Given the description of an element on the screen output the (x, y) to click on. 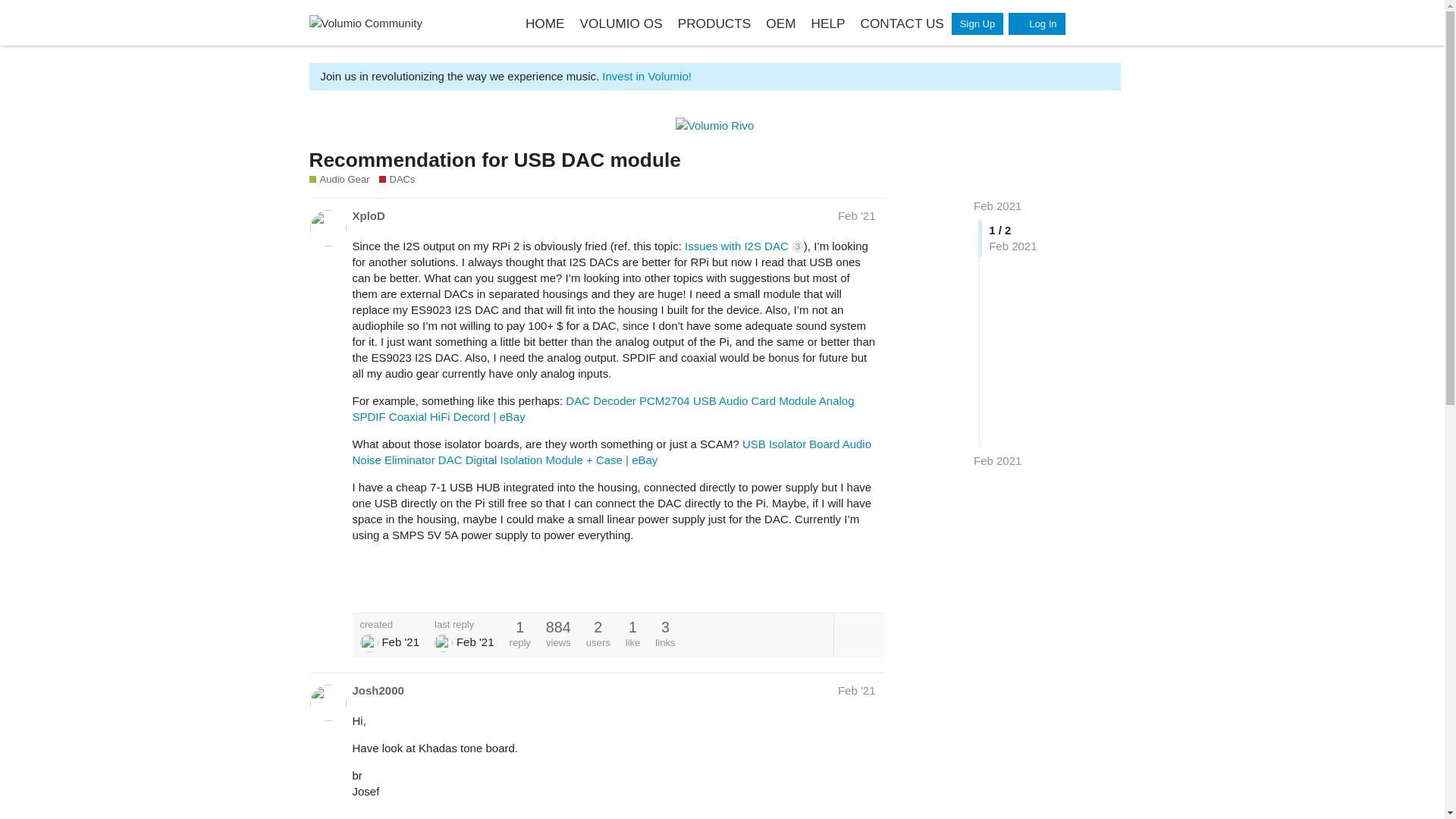
DACs (396, 179)
Feb 2021 (998, 205)
Recommendation for USB DAC module (494, 159)
HOME (545, 23)
3 clicks (797, 246)
Feb '21 (857, 215)
Home (545, 23)
last reply (464, 624)
OEM and Enterprise Custom Solutions (780, 23)
share a link to this post (869, 584)
